Given the description of an element on the screen output the (x, y) to click on. 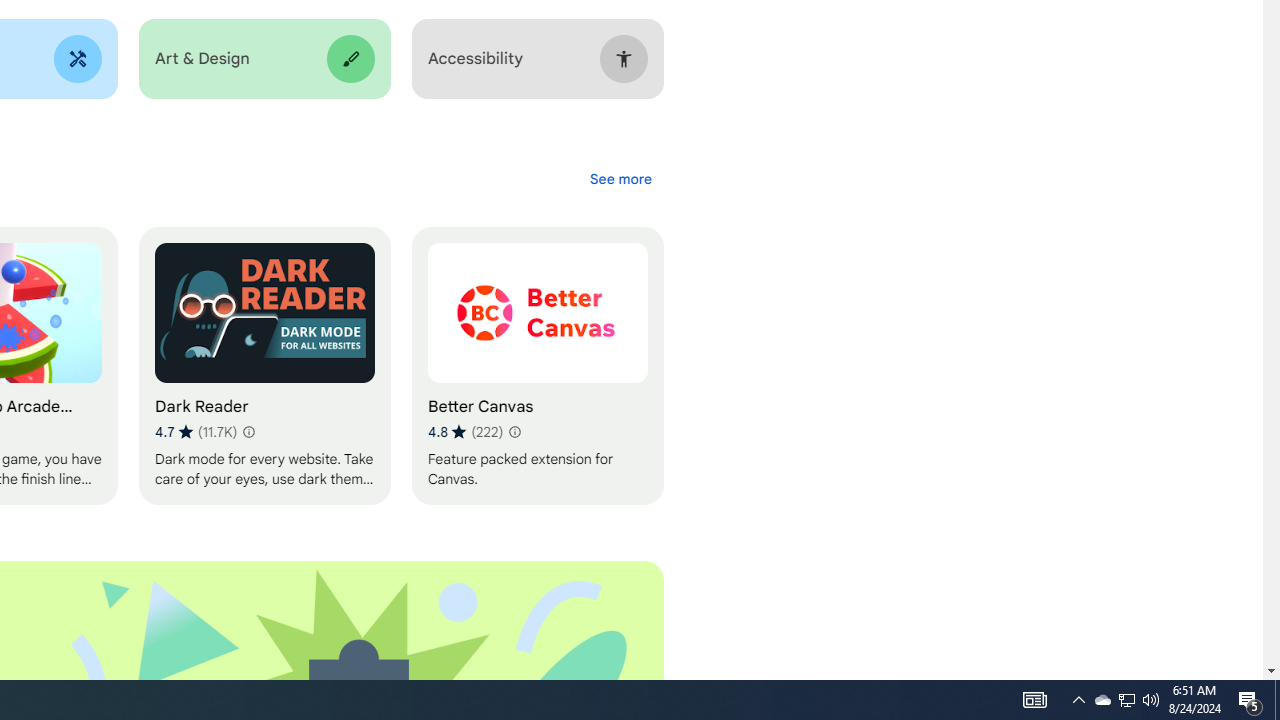
Learn more about results and reviews "Better Canvas" (513, 431)
Art & Design (264, 59)
Average rating 4.7 out of 5 stars. 11.7K ratings. (195, 431)
Better Canvas (537, 366)
Dark Reader (264, 366)
Learn more about results and reviews "Dark Reader" (247, 431)
Average rating 4.8 out of 5 stars. 222 ratings. (465, 431)
See more personalized recommendations (620, 178)
Accessibility (537, 59)
